Given the description of an element on the screen output the (x, y) to click on. 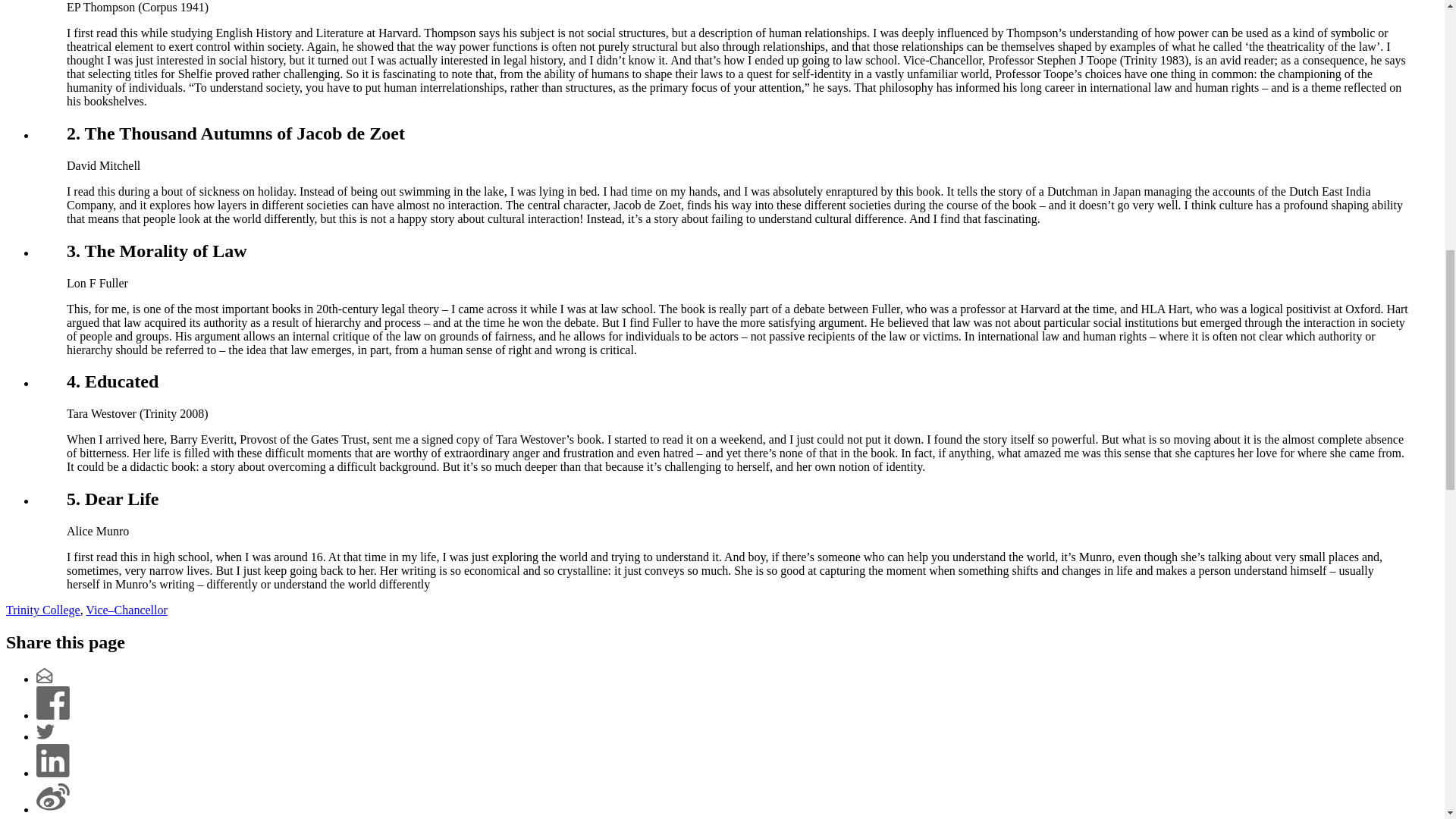
Trinity College (42, 609)
